Given the description of an element on the screen output the (x, y) to click on. 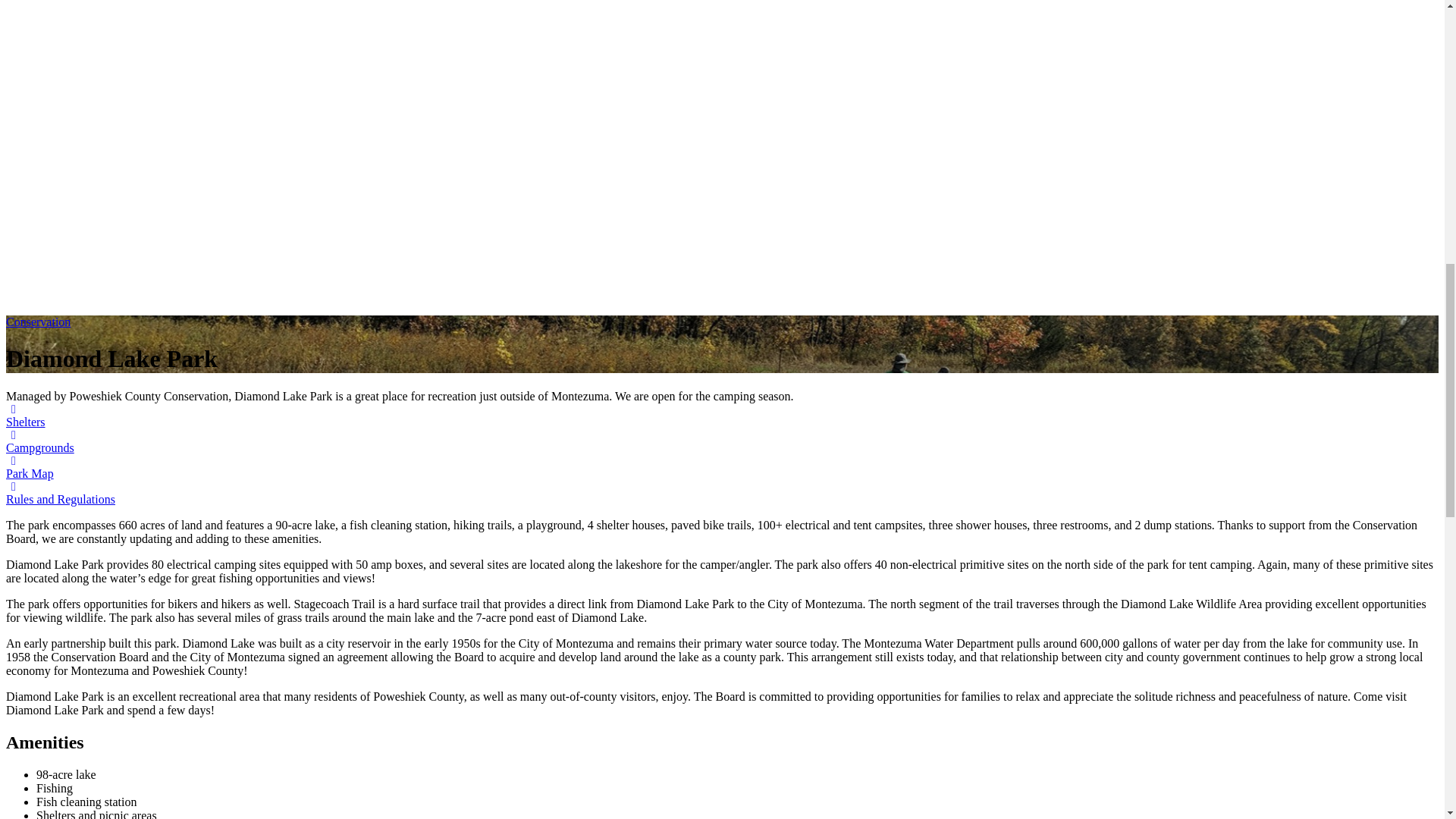
Park Map (29, 466)
Shelters (25, 415)
Conservation (37, 321)
Campgrounds (39, 441)
